Given the description of an element on the screen output the (x, y) to click on. 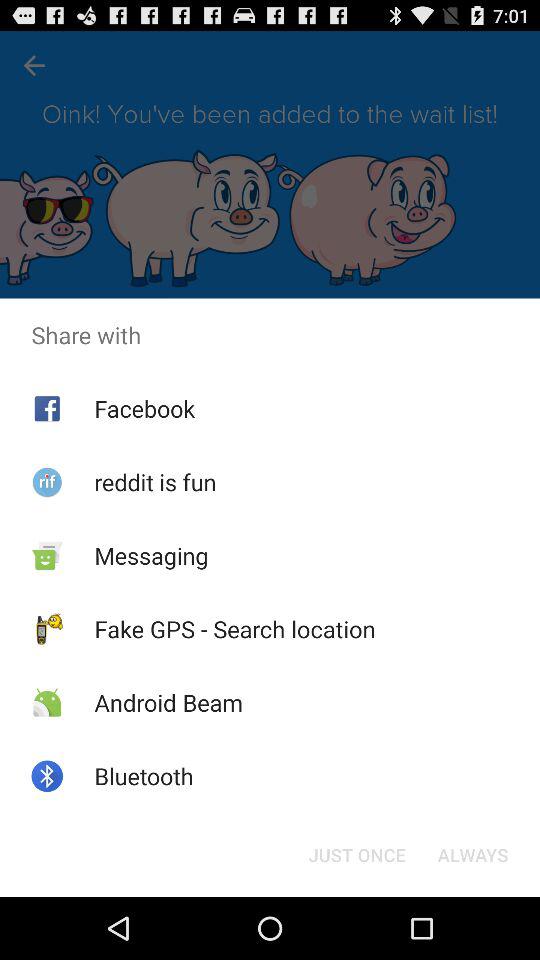
jump to the facebook app (144, 408)
